Given the description of an element on the screen output the (x, y) to click on. 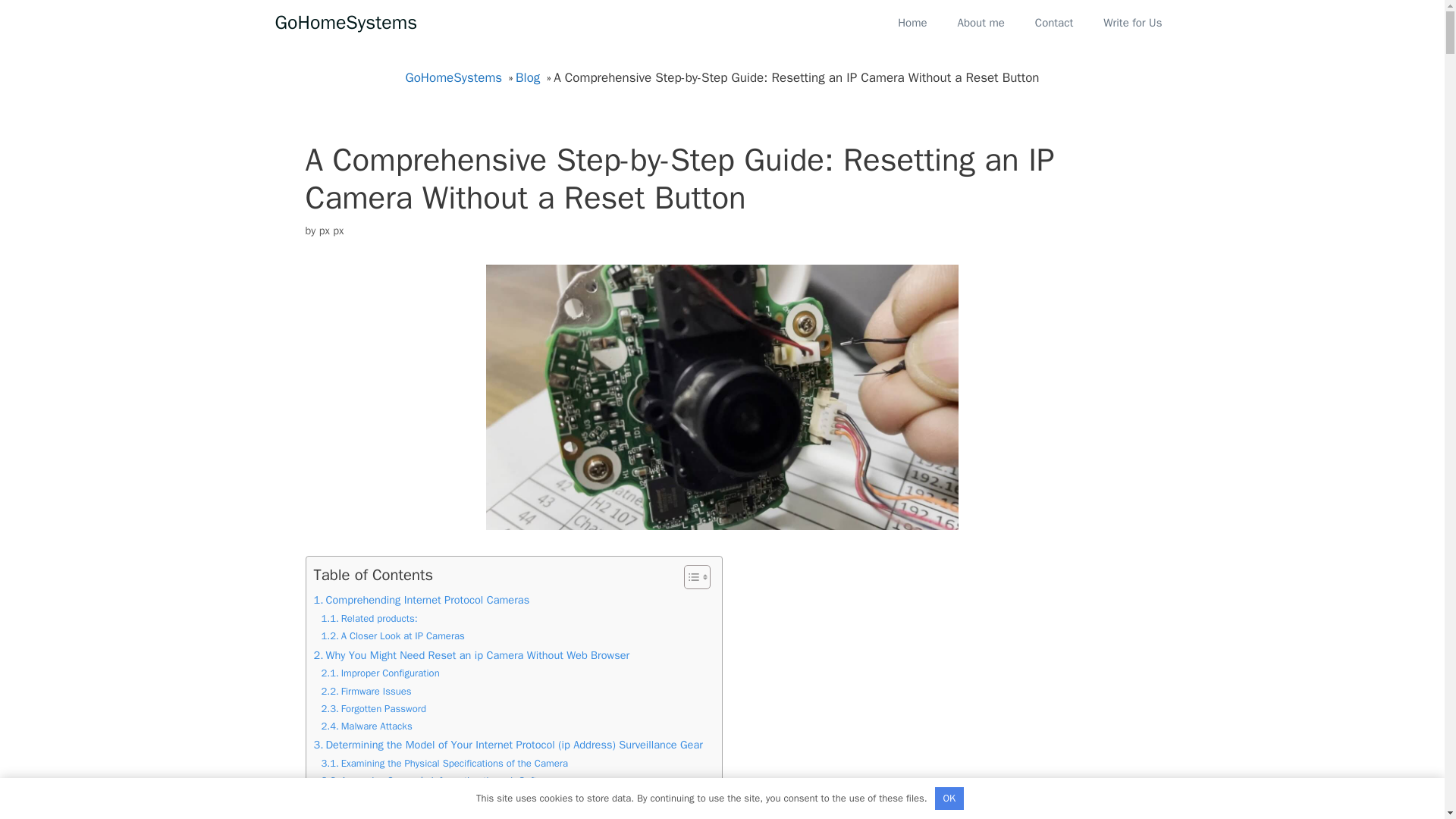
Examining the Physical Specifications of the Camera (444, 763)
Improper Configuration (380, 673)
Comprehending Internet Protocol Cameras (421, 600)
Referencing the Product Manual or Box (416, 799)
Malware Attacks (366, 726)
View all posts by px px (330, 229)
Related products: (369, 618)
Contact (1053, 22)
Contacting the Manufacturer or Seller (412, 814)
A Closer Look at IP Cameras (392, 636)
